Given the description of an element on the screen output the (x, y) to click on. 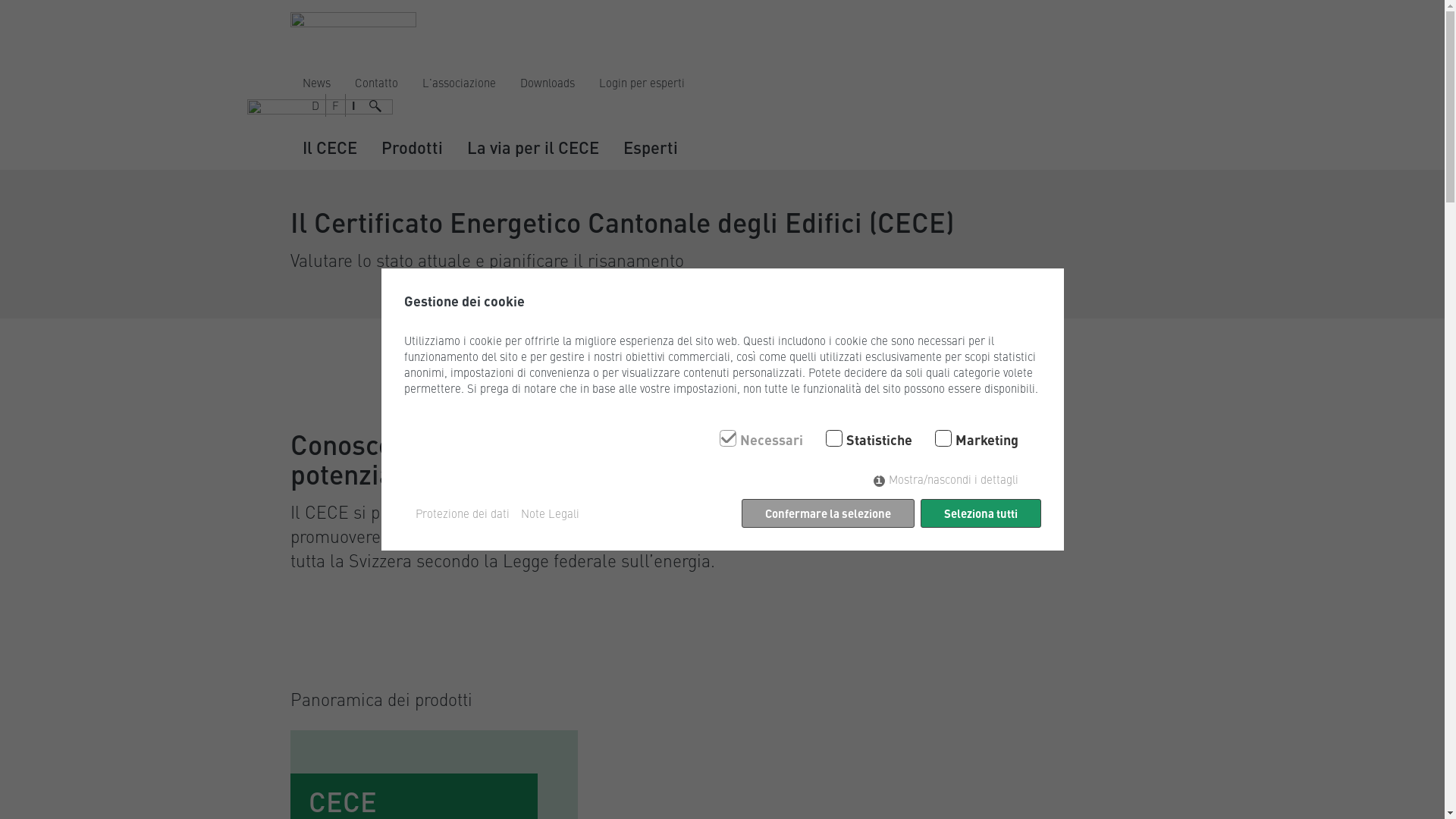
Esperti Element type: text (650, 147)
News Element type: text (315, 82)
Note Legali Element type: text (549, 513)
Protezione dei dati Element type: text (462, 513)
L'associazione Element type: text (458, 82)
Il CECE Element type: text (328, 147)
F Element type: text (335, 105)
D Element type: text (314, 105)
Contatto Element type: text (376, 82)
Seleziona tutti Element type: text (980, 512)
Confermare la selezione Element type: text (827, 512)
La via per il CECE Element type: text (533, 147)
Login per esperti Element type: text (641, 82)
Prodotti Element type: text (411, 147)
Downloads Element type: text (547, 82)
I Element type: text (353, 105)
Mostra/nascondi i dettagli Element type: text (945, 478)
